Given the description of an element on the screen output the (x, y) to click on. 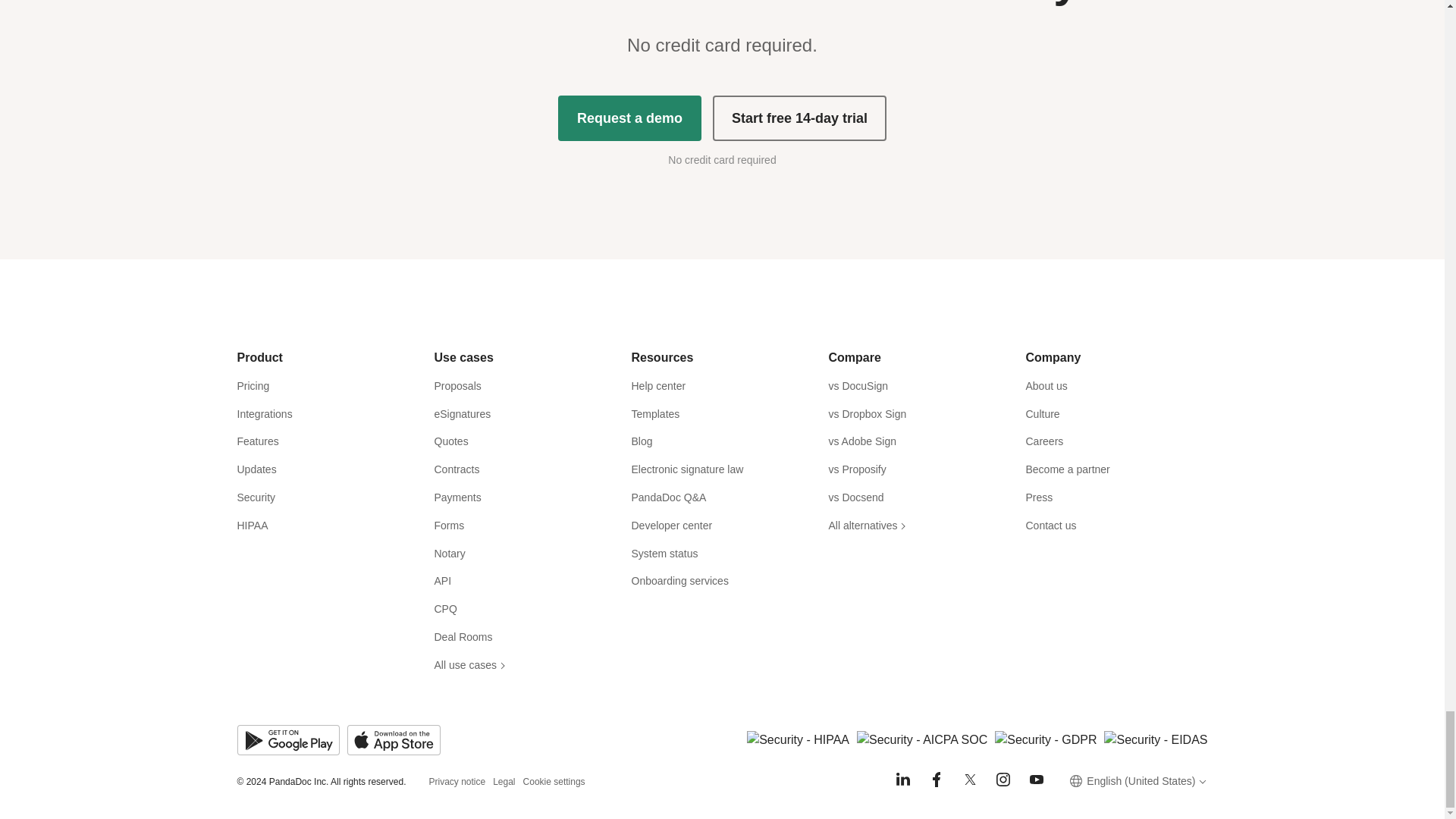
Instagram (1002, 779)
Facebook (935, 779)
LinkedIn (902, 779)
Twitter (969, 779)
Youtube (1036, 779)
